Given the description of an element on the screen output the (x, y) to click on. 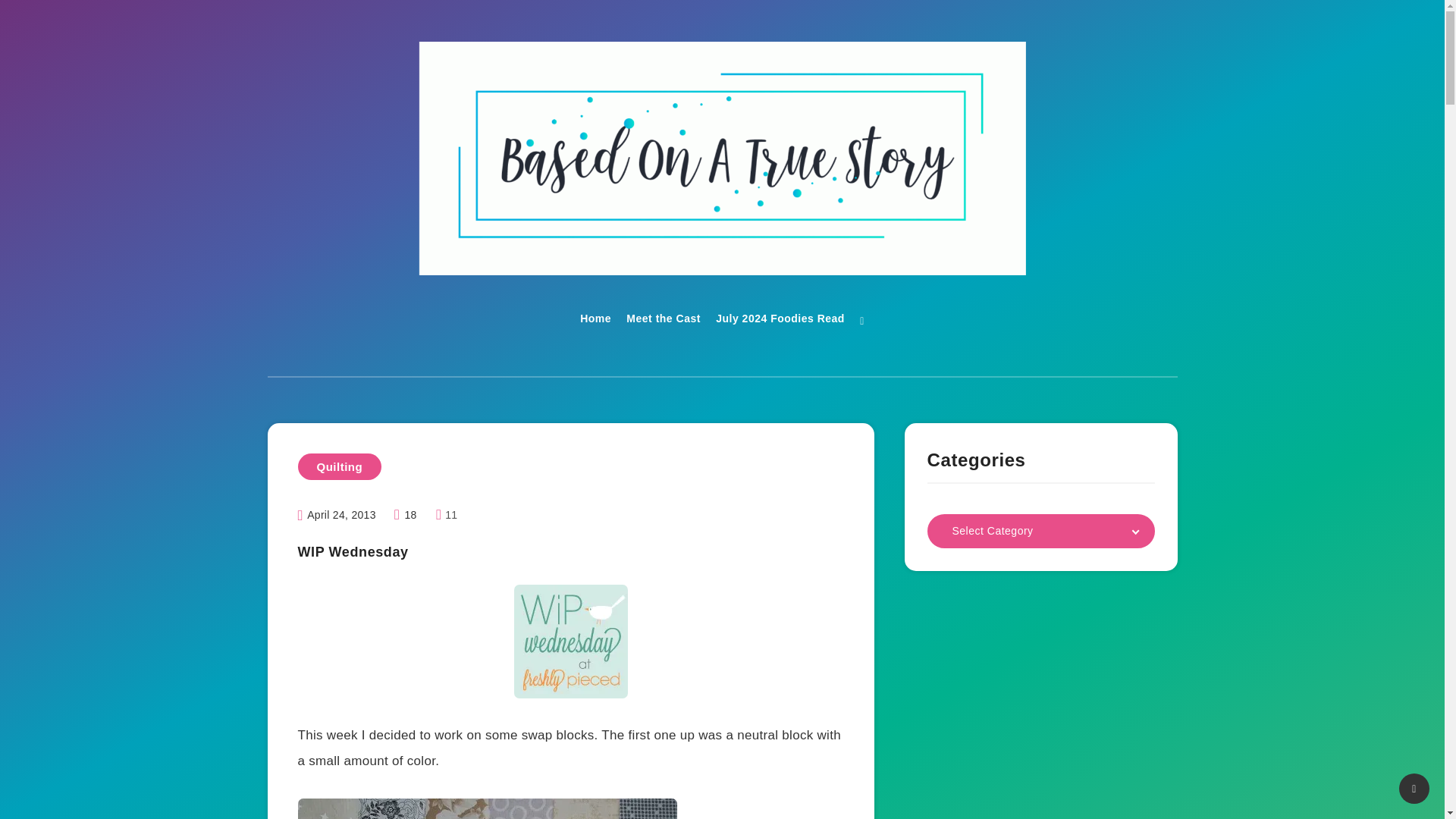
Meet the Cast (663, 320)
Home (595, 320)
11 (446, 514)
Views (407, 514)
Go to comments (446, 514)
July 2024 Foodies Read (780, 320)
Quilting (339, 466)
